Given the description of an element on the screen output the (x, y) to click on. 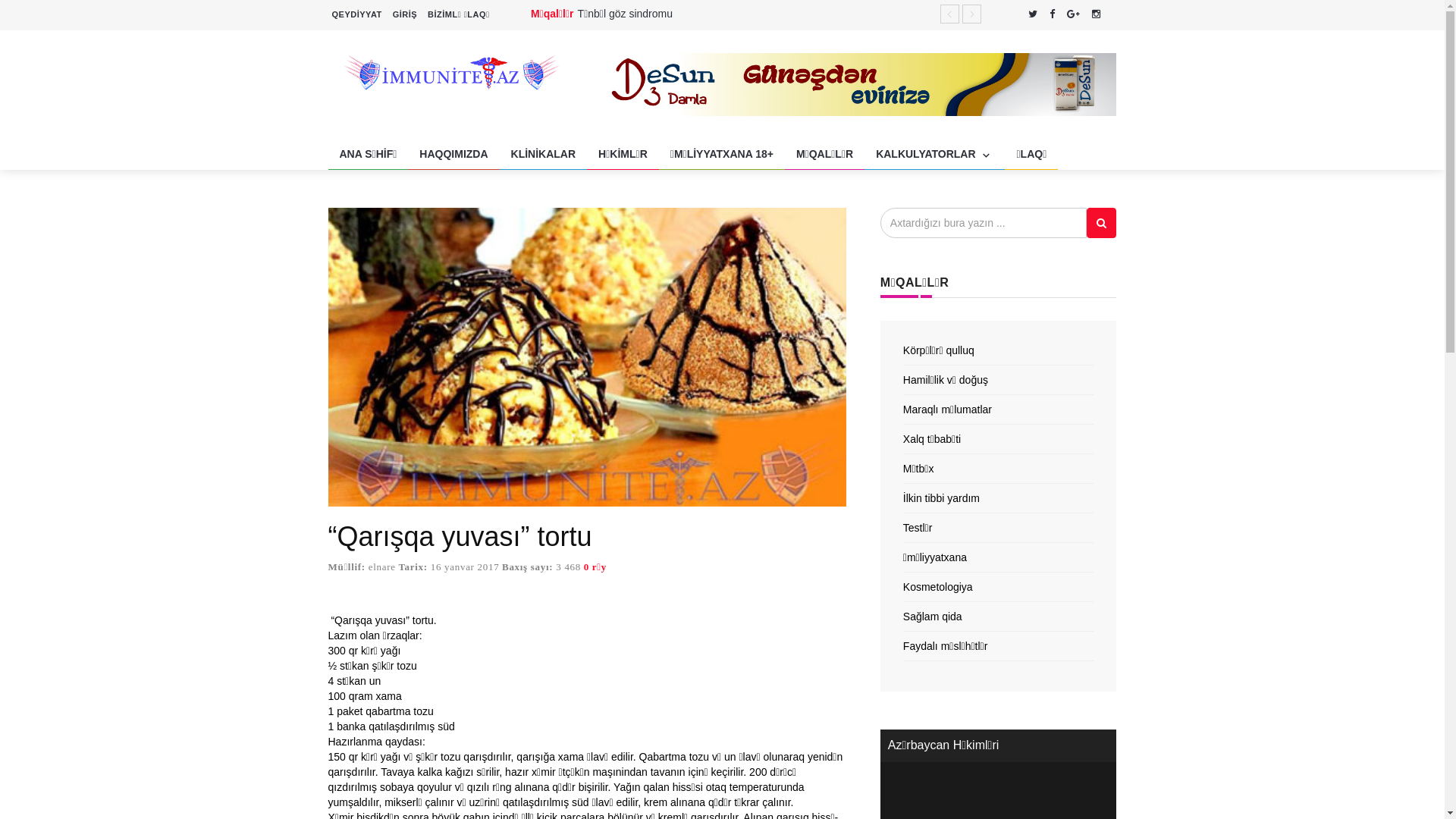
Twitter Element type: hover (1032, 14)
Google Element type: hover (1073, 14)
Kosmetologiya Element type: text (937, 586)
youtube Element type: hover (1111, 14)
Facebook Element type: hover (1051, 14)
HAQQIMIZDA Element type: text (452, 153)
KALKULYATORLAR Element type: text (934, 153)
elnare Element type: text (381, 567)
